Given the description of an element on the screen output the (x, y) to click on. 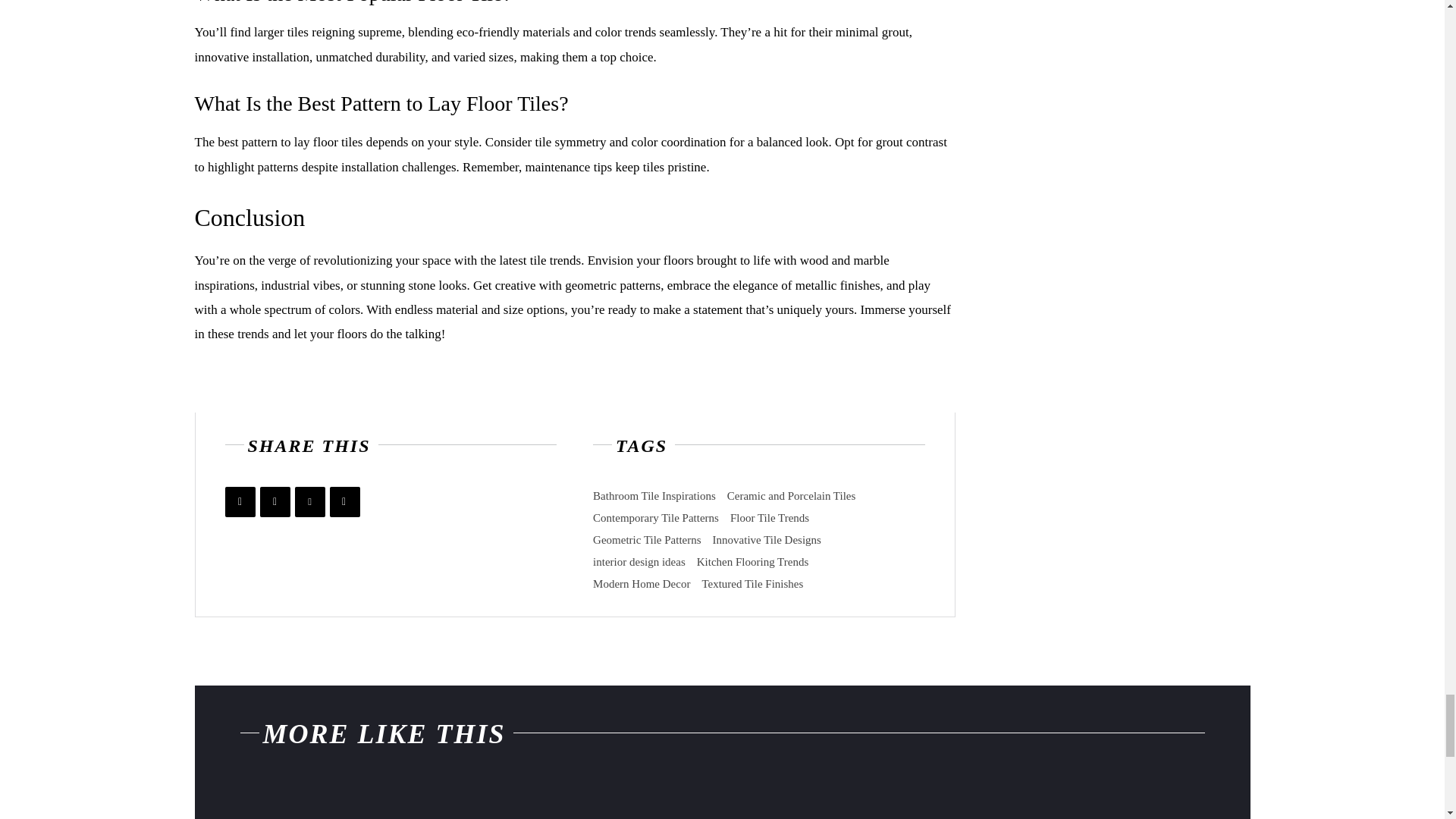
Mix (344, 501)
Pinterest (309, 501)
Twitter (274, 501)
Facebook (239, 501)
